Given the description of an element on the screen output the (x, y) to click on. 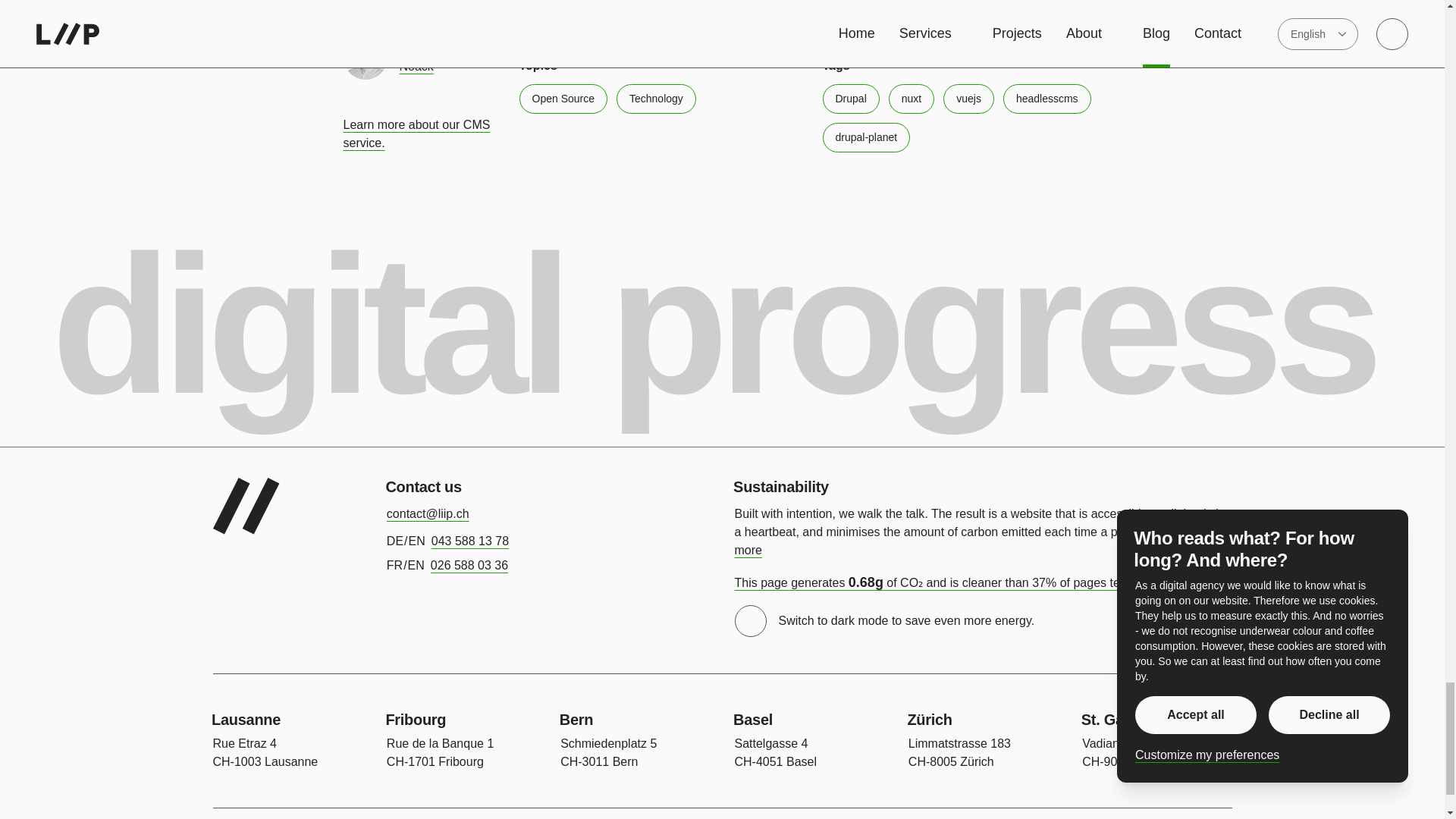
Directions (959, 753)
Directions (1134, 753)
Directions (608, 753)
Directions (440, 753)
Directions (774, 753)
Directions (264, 753)
